Given the description of an element on the screen output the (x, y) to click on. 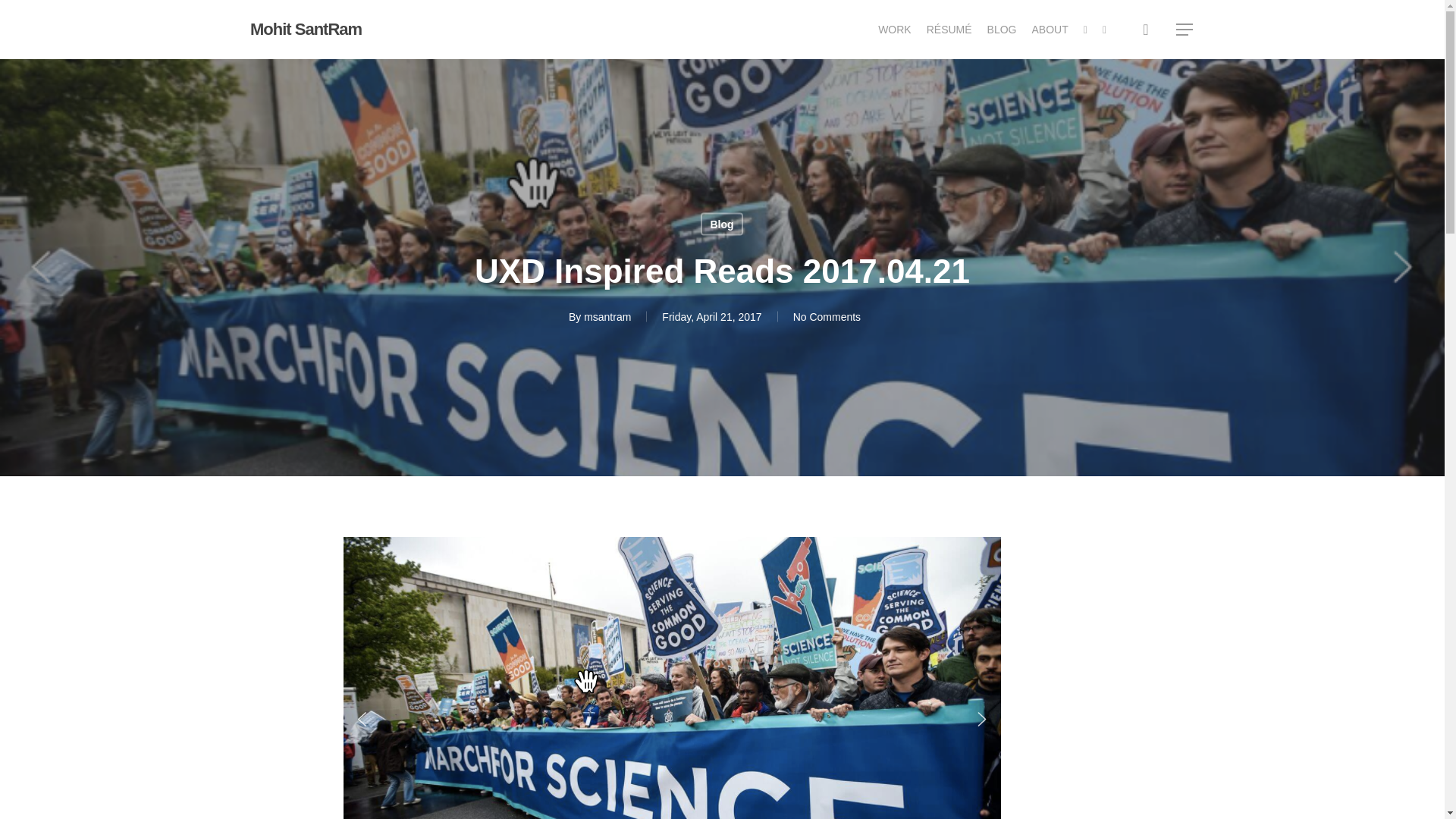
WORK (894, 29)
msantram (606, 316)
Mohit SantRam (305, 29)
BLOG (1001, 29)
No Comments (826, 316)
search (1145, 28)
Menu (1184, 28)
Posts by msantram (606, 316)
Blog (721, 223)
ABOUT (1050, 29)
